Given the description of an element on the screen output the (x, y) to click on. 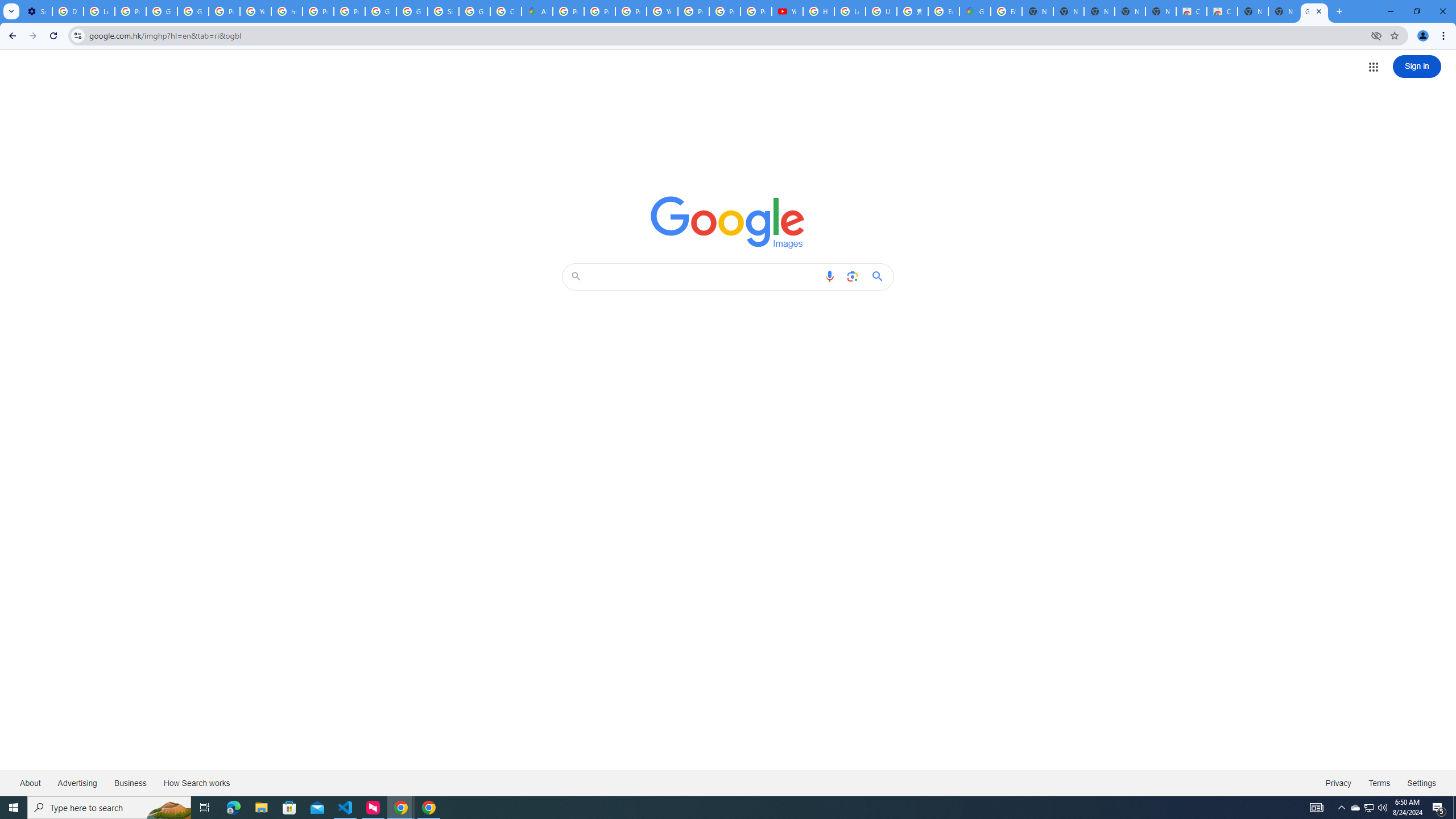
YouTube (662, 11)
Google Images (1314, 11)
Google Account Help (161, 11)
